Given the description of an element on the screen output the (x, y) to click on. 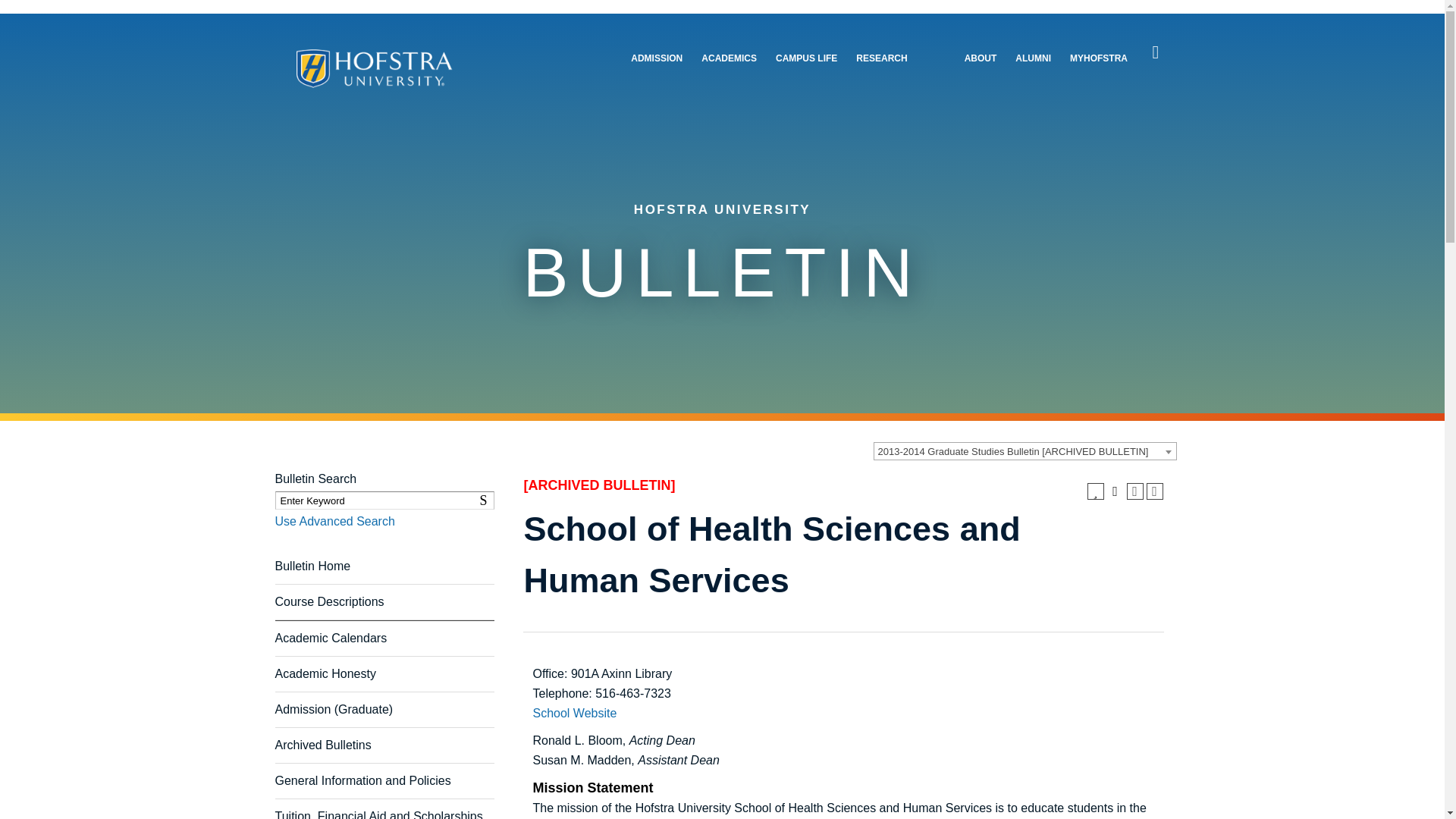
Archived Bulletins (323, 744)
ACADEMICS (729, 58)
CAMPUS LIFE (806, 58)
Academic Honesty (325, 673)
General Information and Policies (362, 780)
ADMISSION (656, 58)
Search (1155, 52)
Search Keyword Field, required (385, 500)
RESEARCH (881, 58)
Course Descriptions (329, 601)
Enter Keyword   (385, 500)
GO (16, 9)
Search (486, 500)
Academic Calendars (331, 637)
MYHOFSTRA (1098, 58)
